Given the description of an element on the screen output the (x, y) to click on. 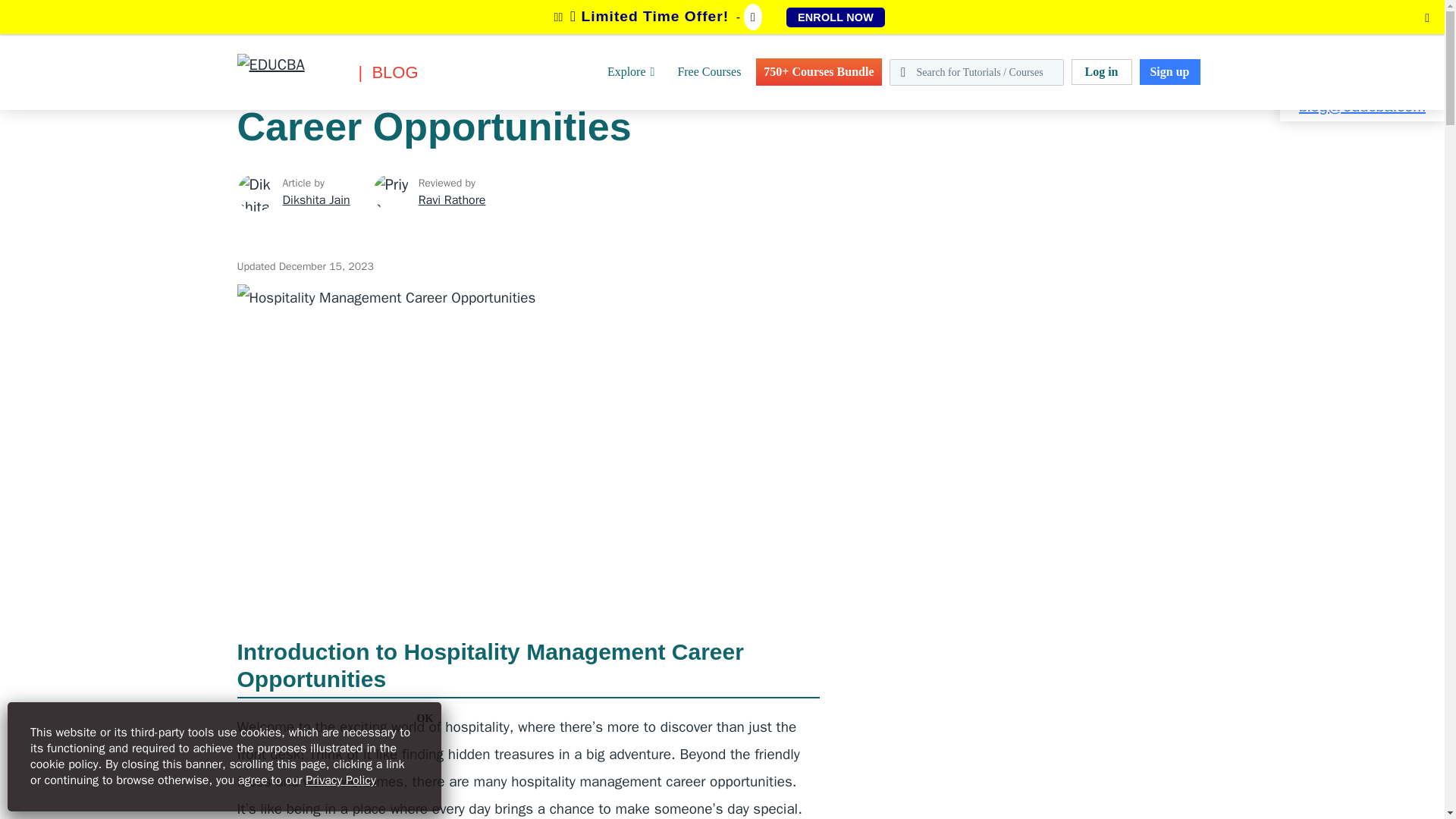
Log in (1100, 71)
Dikshita Jain (255, 192)
Sign up (1168, 71)
Explore (630, 72)
Dikshita Jain (315, 200)
Search (43, 19)
EDUCBA (259, 96)
Free Courses (708, 72)
Ravi Rathore (452, 200)
Privacy Policy (340, 780)
